Given the description of an element on the screen output the (x, y) to click on. 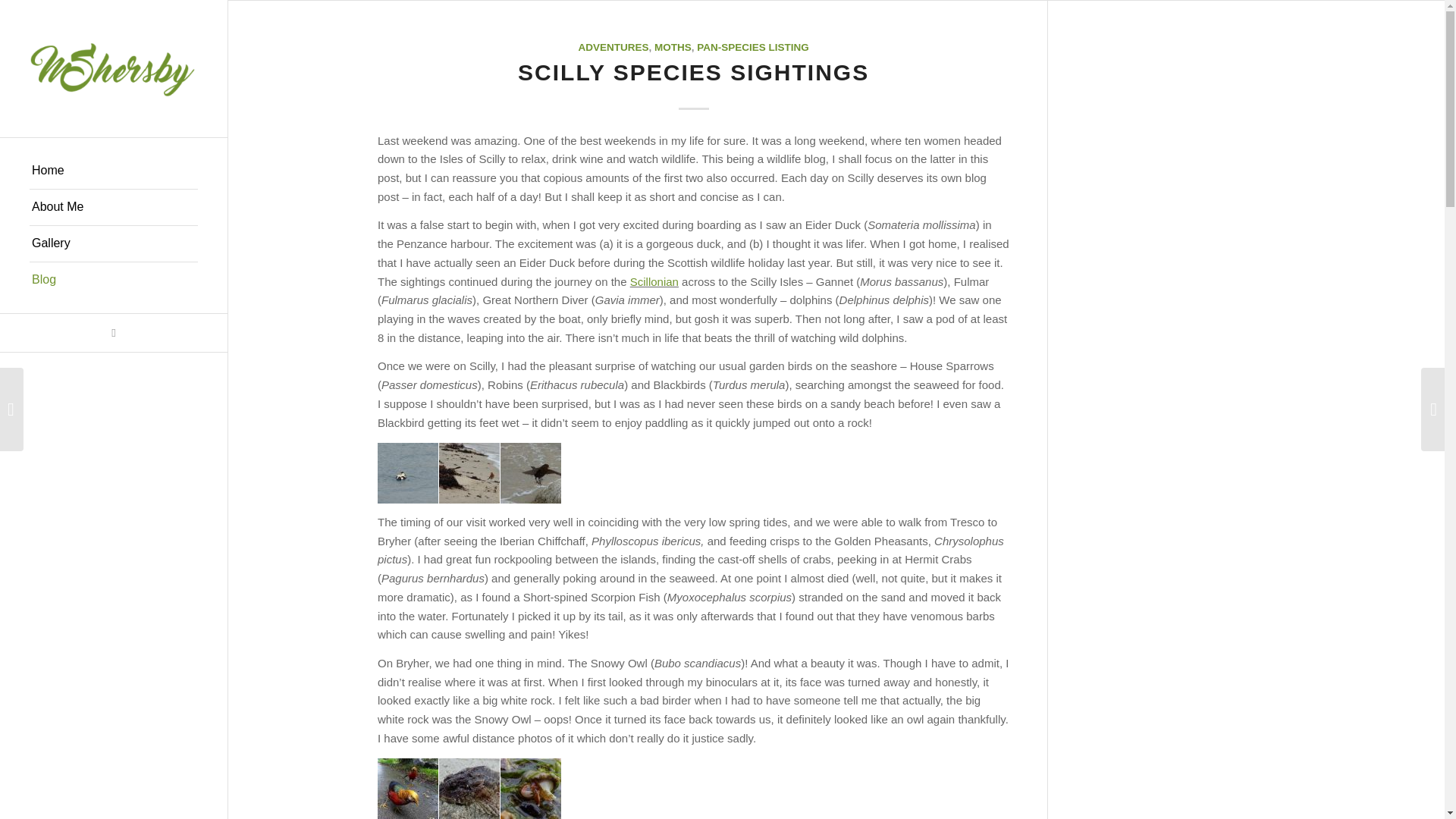
PAN-SPECIES LISTING (753, 47)
Scillonian (654, 280)
Permanent Link: Scilly Species Sightings (693, 72)
SCILLY SPECIES SIGHTINGS (693, 72)
ADVENTURES (612, 47)
MOTHS (672, 47)
About Me (113, 207)
Blog (113, 280)
Home (113, 171)
Twitter (113, 332)
